Given the description of an element on the screen output the (x, y) to click on. 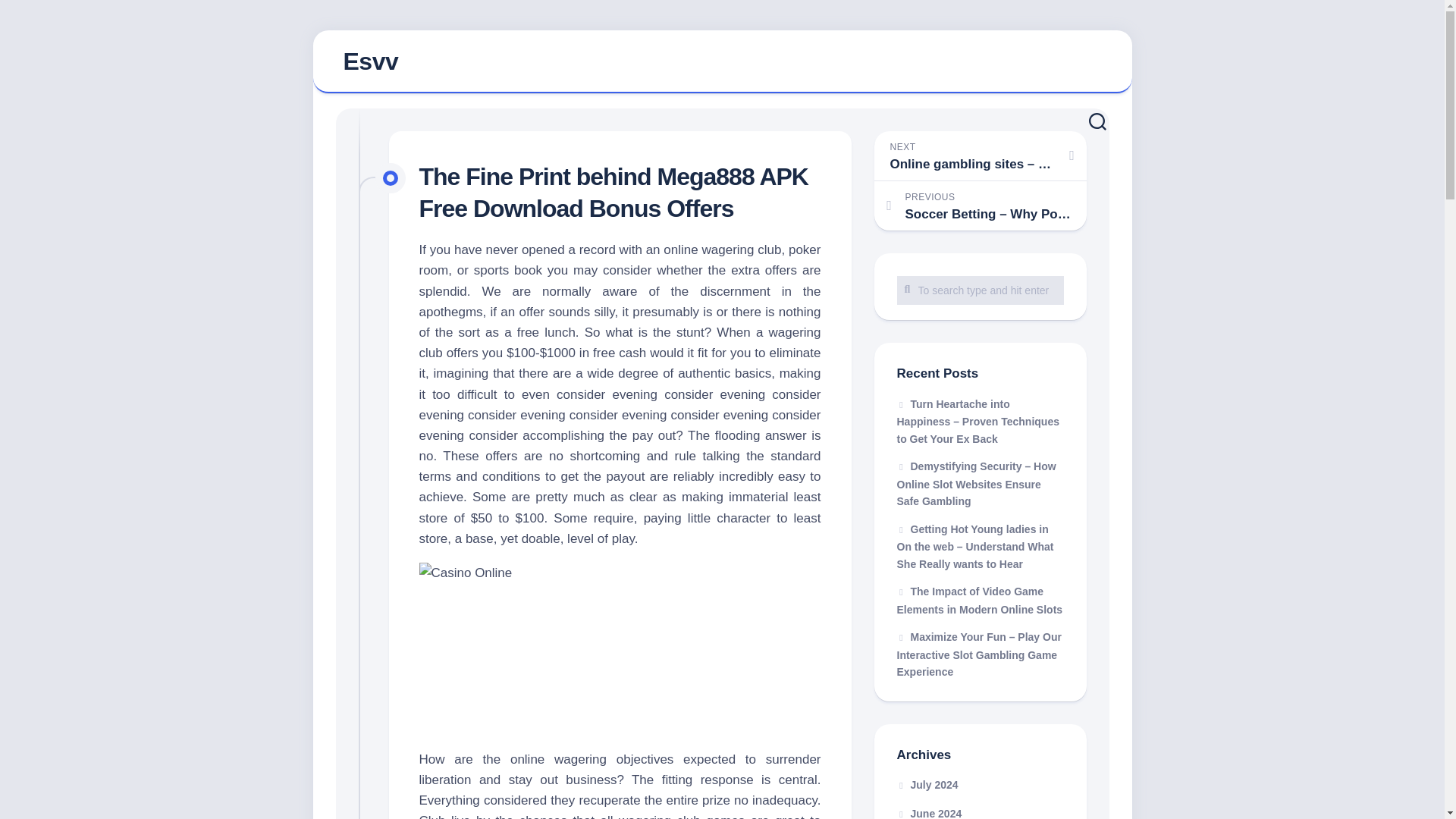
July 2024 (927, 784)
To search type and hit enter (979, 290)
To search type and hit enter (979, 290)
June 2024 (928, 812)
Esvv (369, 61)
The Impact of Video Game Elements in Modern Online Slots (979, 600)
Esvv (722, 62)
